Given the description of an element on the screen output the (x, y) to click on. 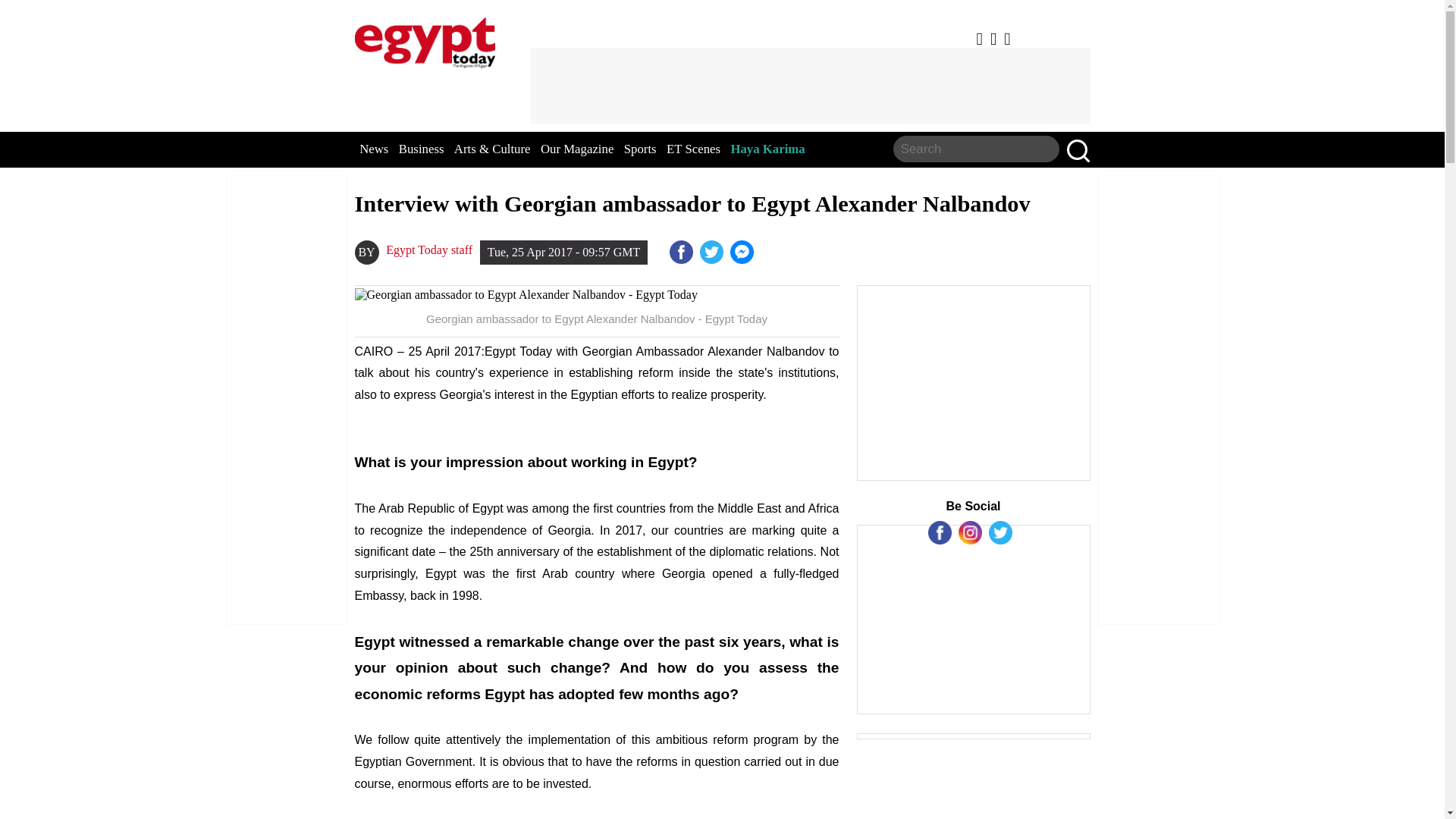
EgyptToday (425, 39)
Business (421, 149)
Haya Karima (767, 149)
Egypt Today staff (428, 250)
Sports (640, 149)
Our Magazine (576, 149)
Sisi heads to Guinea first destination in overseas tour (743, 251)
ET Scenes (693, 149)
